Given the description of an element on the screen output the (x, y) to click on. 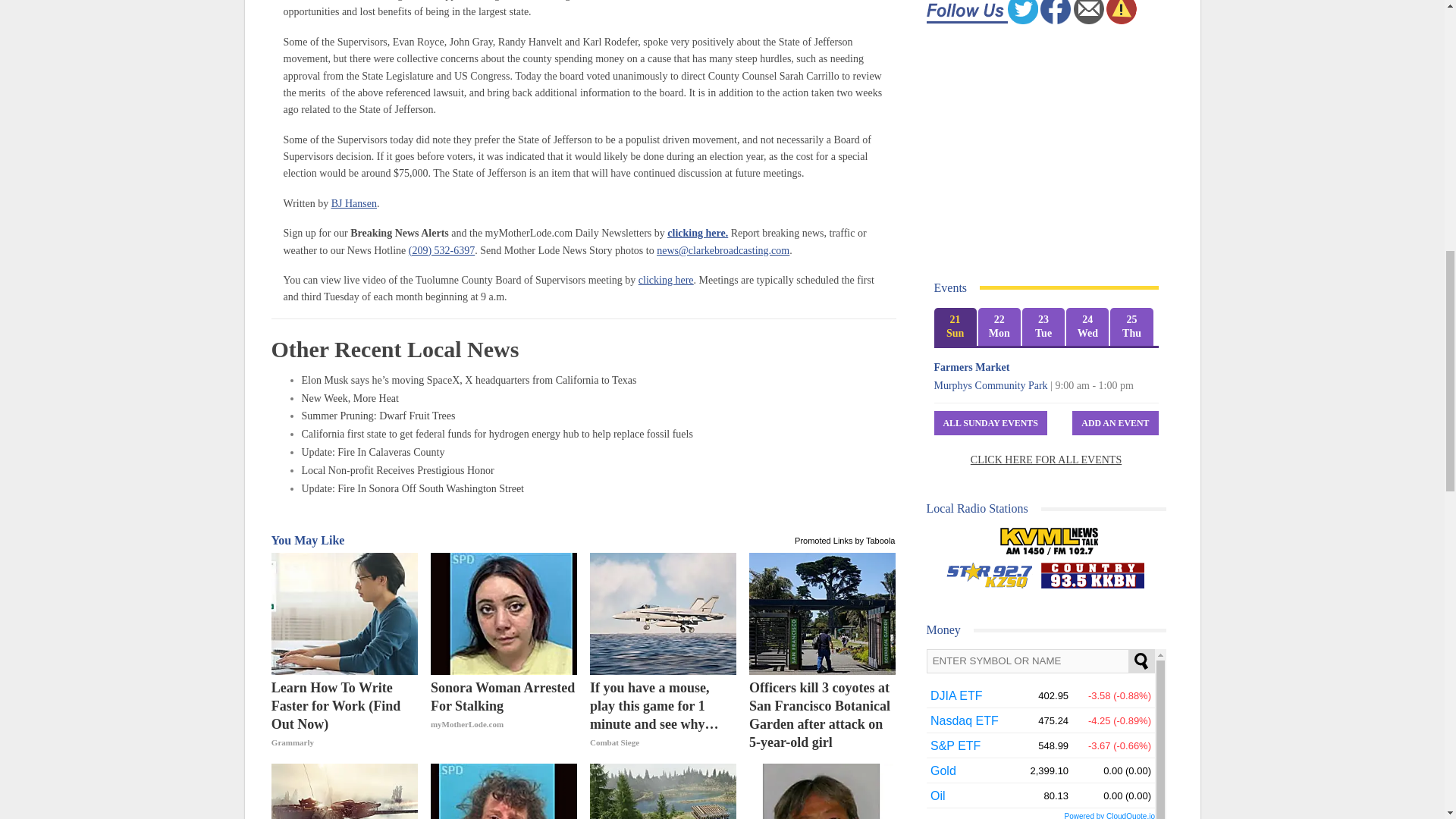
Add An Event (1114, 423)
Sonora Woman Arrested For Stalking (503, 613)
All Sunday Events (990, 423)
Sonora Woman Arrested For Stalking (503, 714)
